Given the description of an element on the screen output the (x, y) to click on. 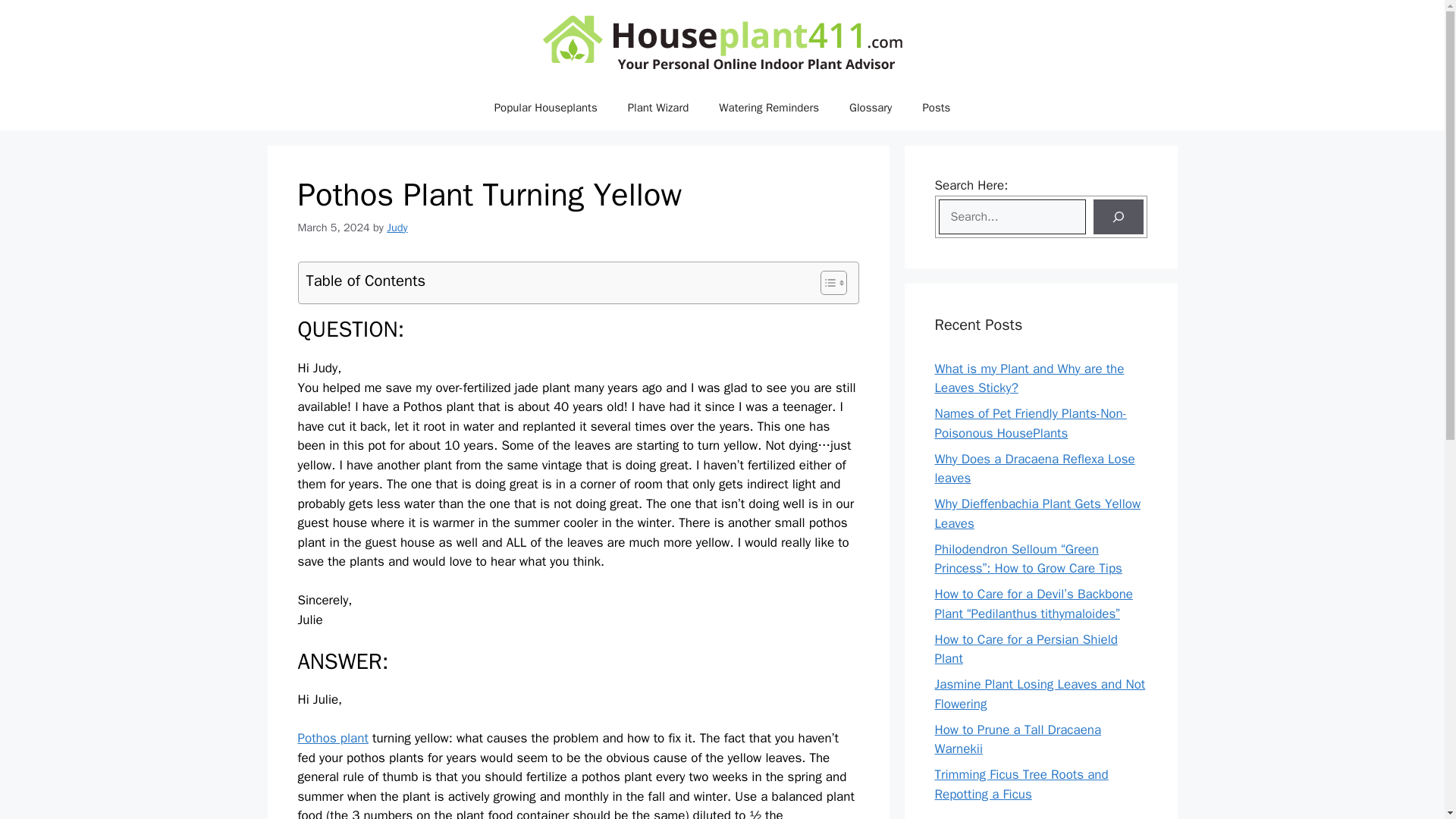
Judy (397, 227)
Names of Pet Friendly Plants-Non- Poisonous HousePlants (1029, 423)
How to Prune a Tall Dracaena Warnekii (1017, 739)
Why Does a Dracaena Reflexa Lose leaves (1034, 468)
What is my Plant and Why are the Leaves Sticky? (1029, 378)
Posts (936, 107)
View all posts by Judy (397, 227)
Why Dieffenbachia Plant Gets Yellow Leaves (1037, 513)
Jasmine Plant Losing Leaves and Not Flowering (1039, 693)
Popular Houseplants (545, 107)
